Given the description of an element on the screen output the (x, y) to click on. 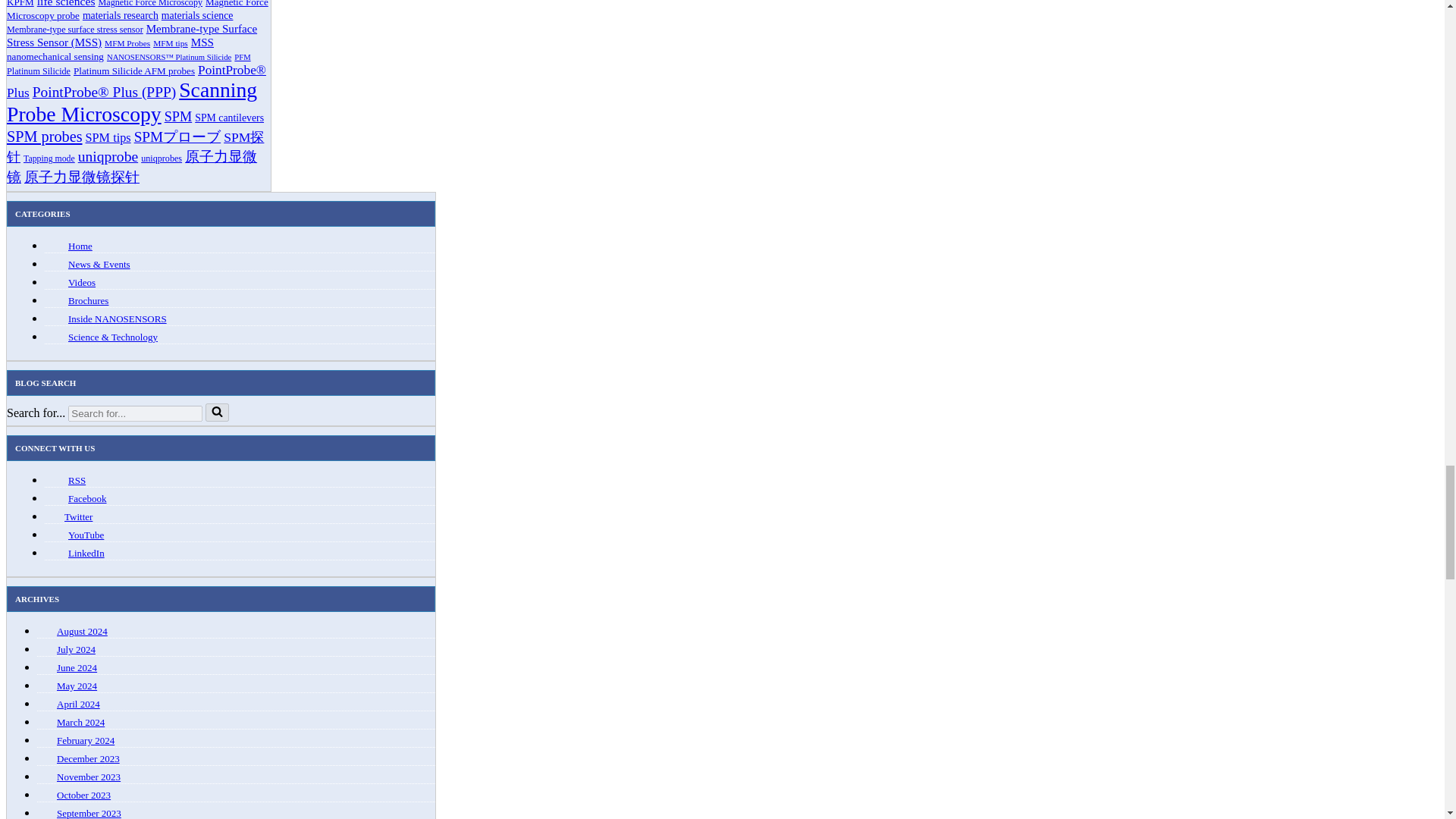
Twitter (78, 516)
Facebook (87, 498)
YouTube (85, 534)
